Given the description of an element on the screen output the (x, y) to click on. 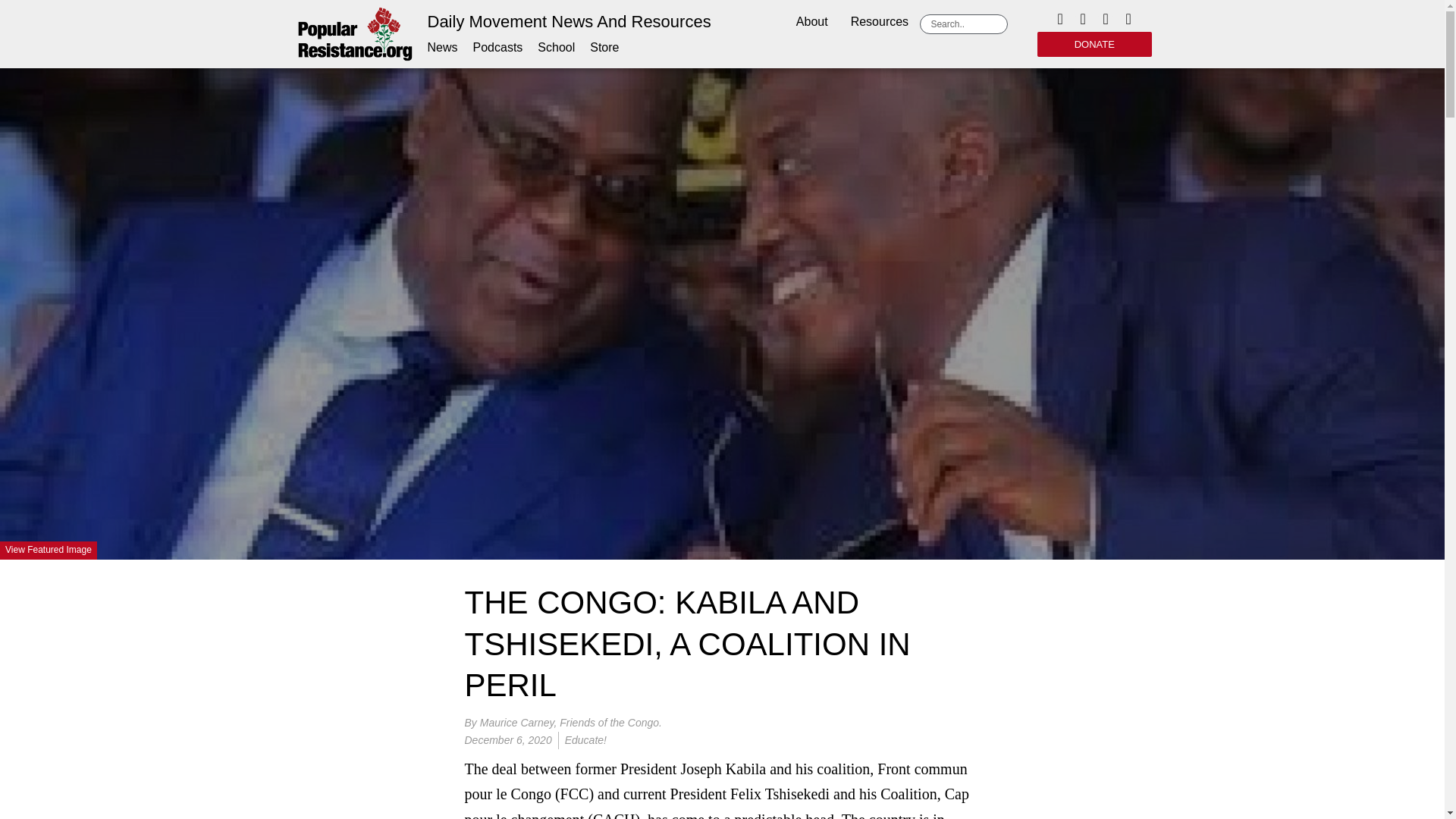
News (443, 47)
Store (603, 47)
Search (966, 24)
Resources (880, 22)
About (812, 22)
Podcasts (497, 47)
School (556, 47)
